Given the description of an element on the screen output the (x, y) to click on. 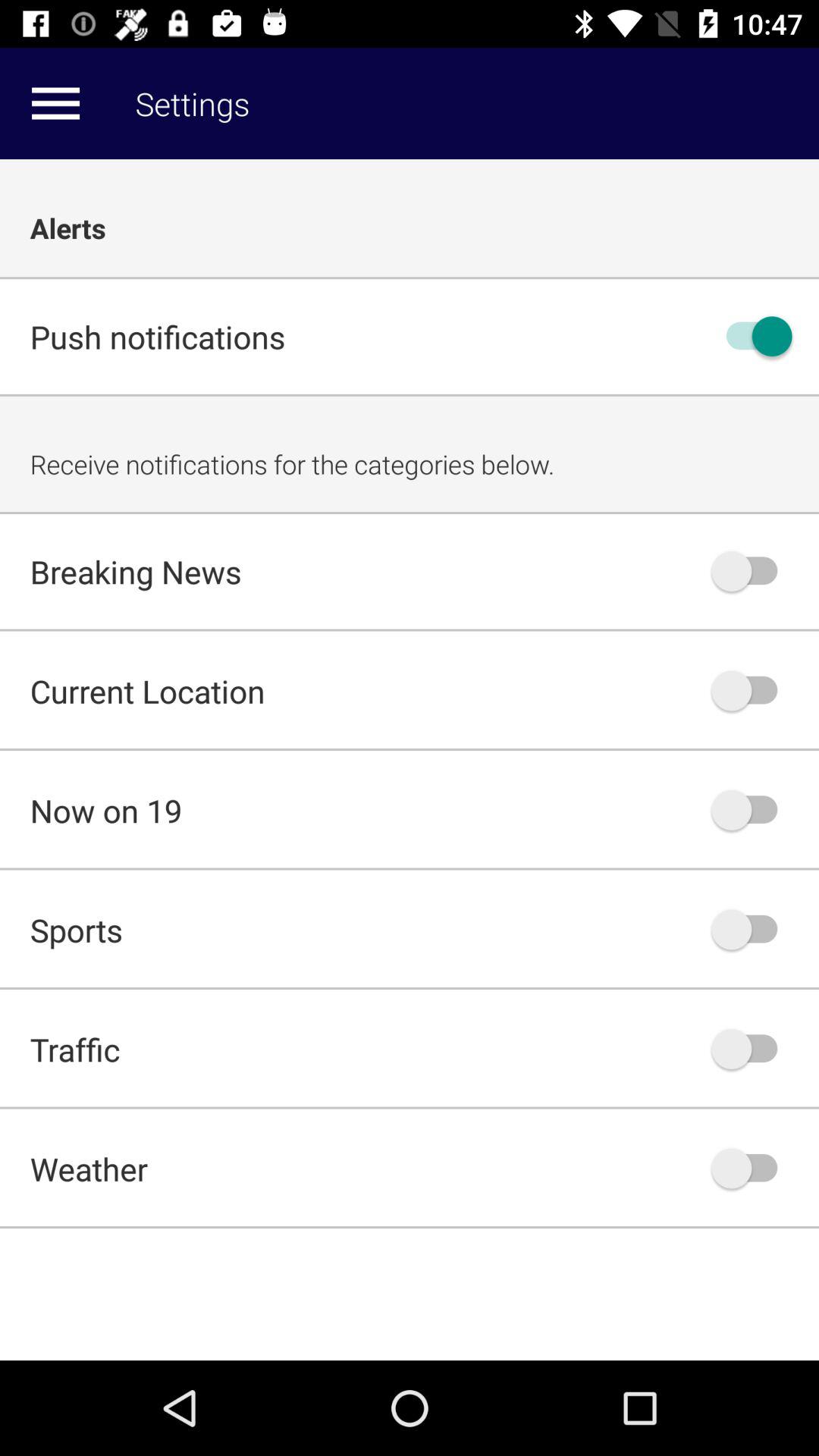
toggle on/off button (751, 571)
